Given the description of an element on the screen output the (x, y) to click on. 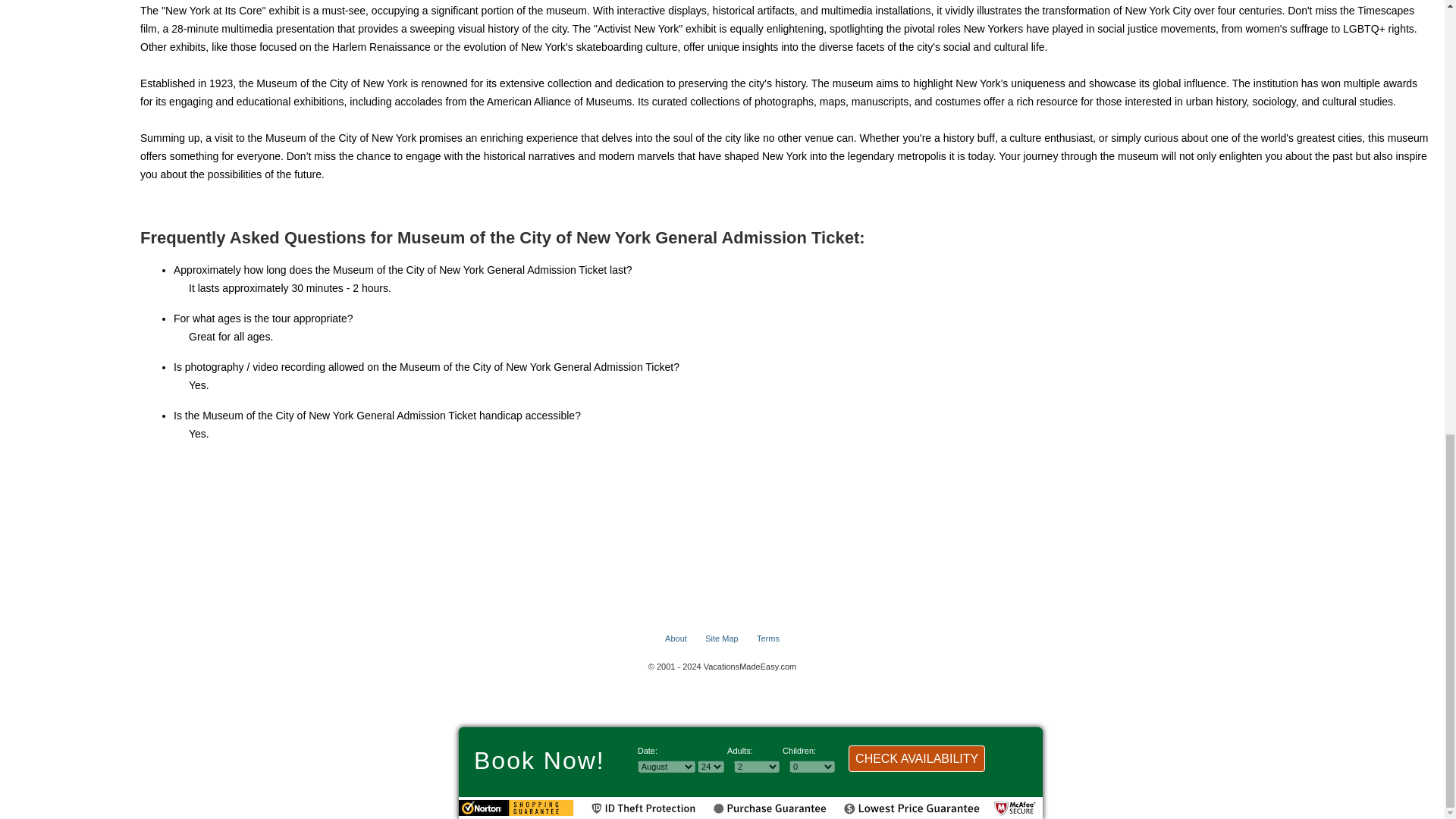
Site Map (721, 637)
About (676, 637)
Terms (767, 637)
